Given the description of an element on the screen output the (x, y) to click on. 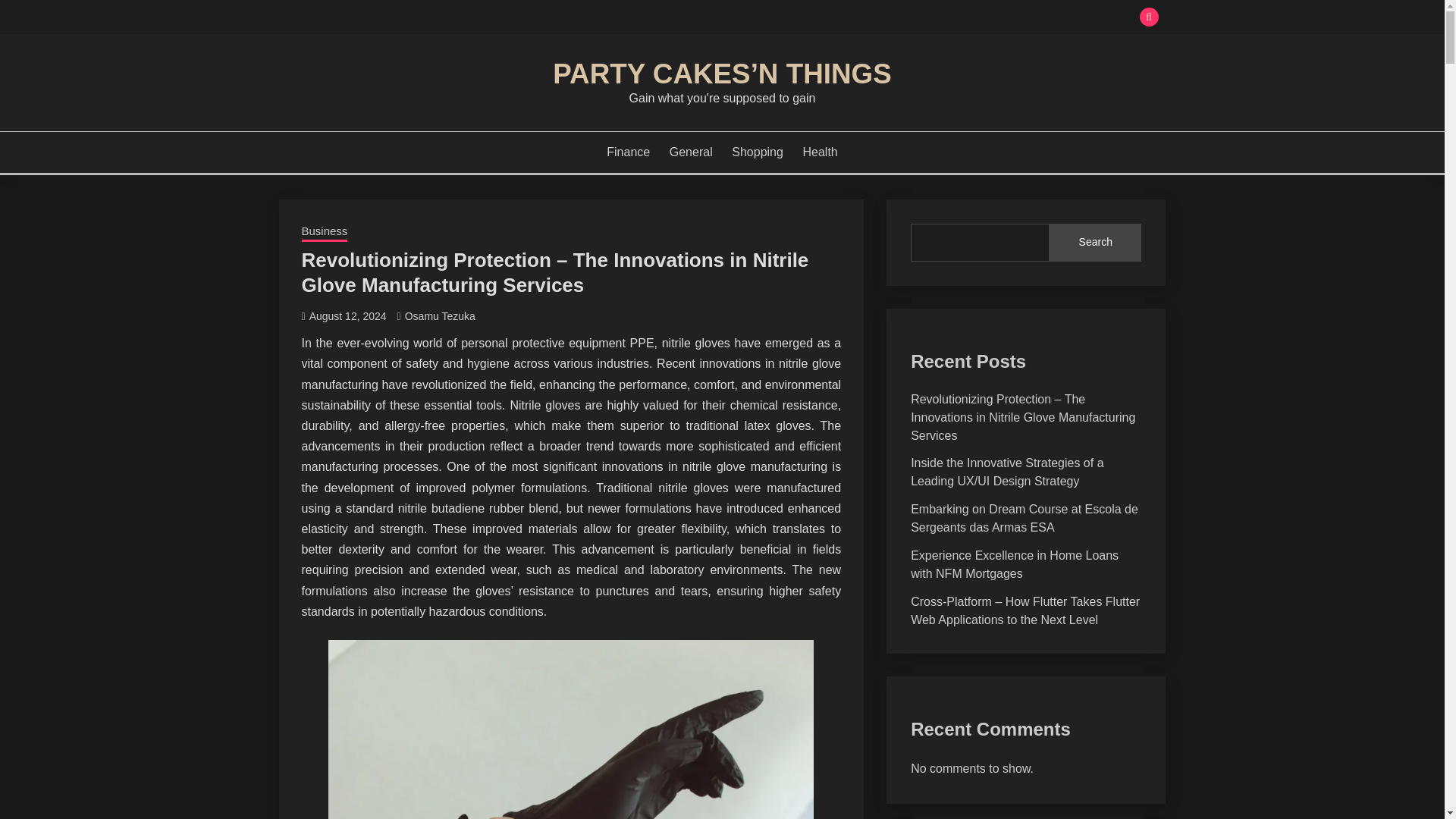
General (691, 152)
Shopping (757, 152)
Osamu Tezuka (440, 316)
Search (832, 18)
Business (324, 232)
August 12, 2024 (347, 316)
Finance (628, 152)
Health (819, 152)
